Given the description of an element on the screen output the (x, y) to click on. 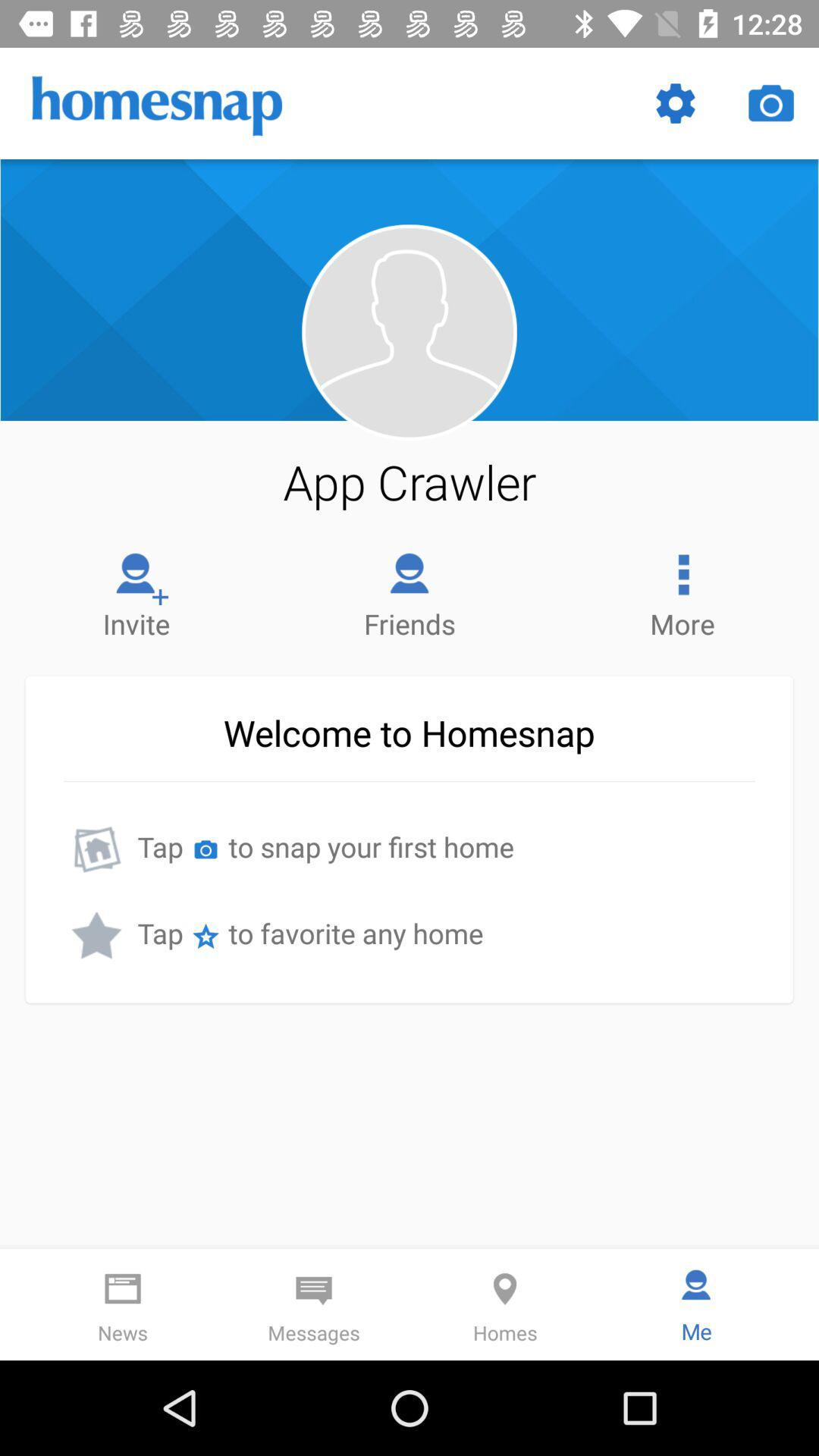
turn on the item above the welcome to homesnap item (136, 591)
